Given the description of an element on the screen output the (x, y) to click on. 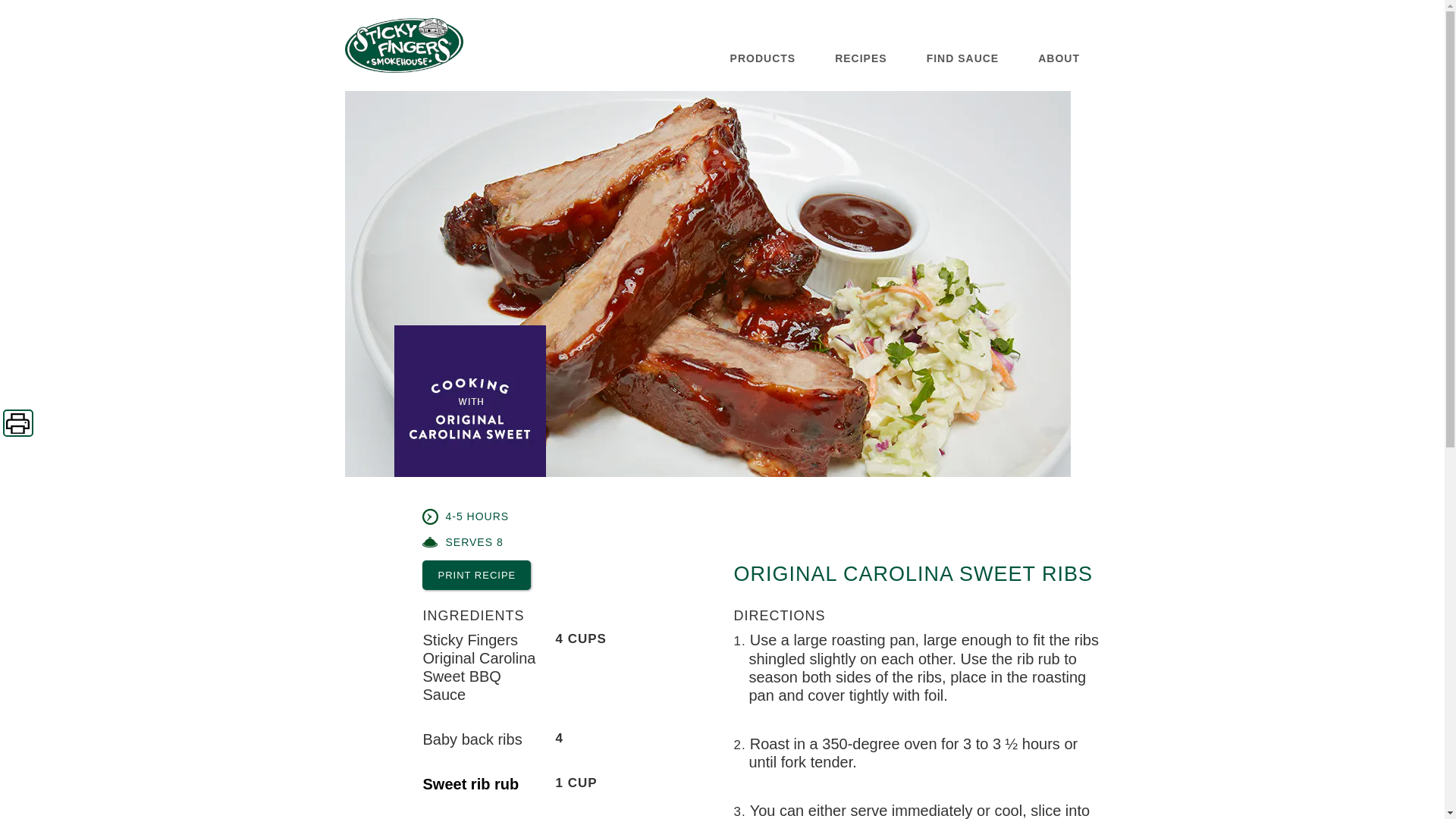
ABOUT (1059, 58)
Sweet rib rub (471, 783)
PRINT RECIPE (476, 574)
PRODUCTS (763, 58)
RECIPES (860, 58)
FIND SAUCE (962, 58)
